Given the description of an element on the screen output the (x, y) to click on. 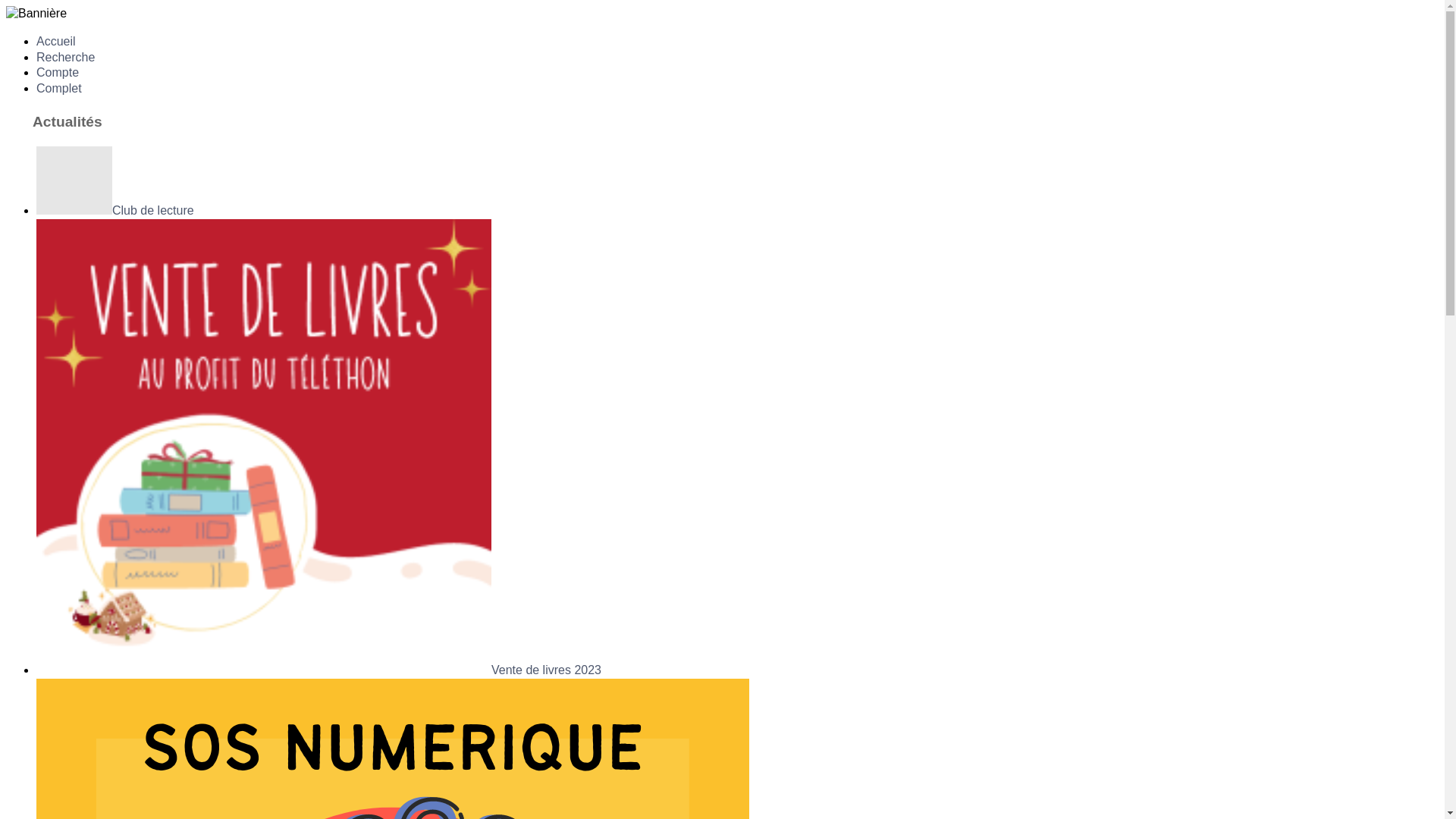
Recherche Element type: text (65, 56)
Accueil Element type: text (55, 40)
Club de lecture Element type: text (115, 209)
Complet Element type: text (58, 87)
Compte Element type: text (57, 71)
Vente de livres 2023 Element type: text (318, 669)
